Given the description of an element on the screen output the (x, y) to click on. 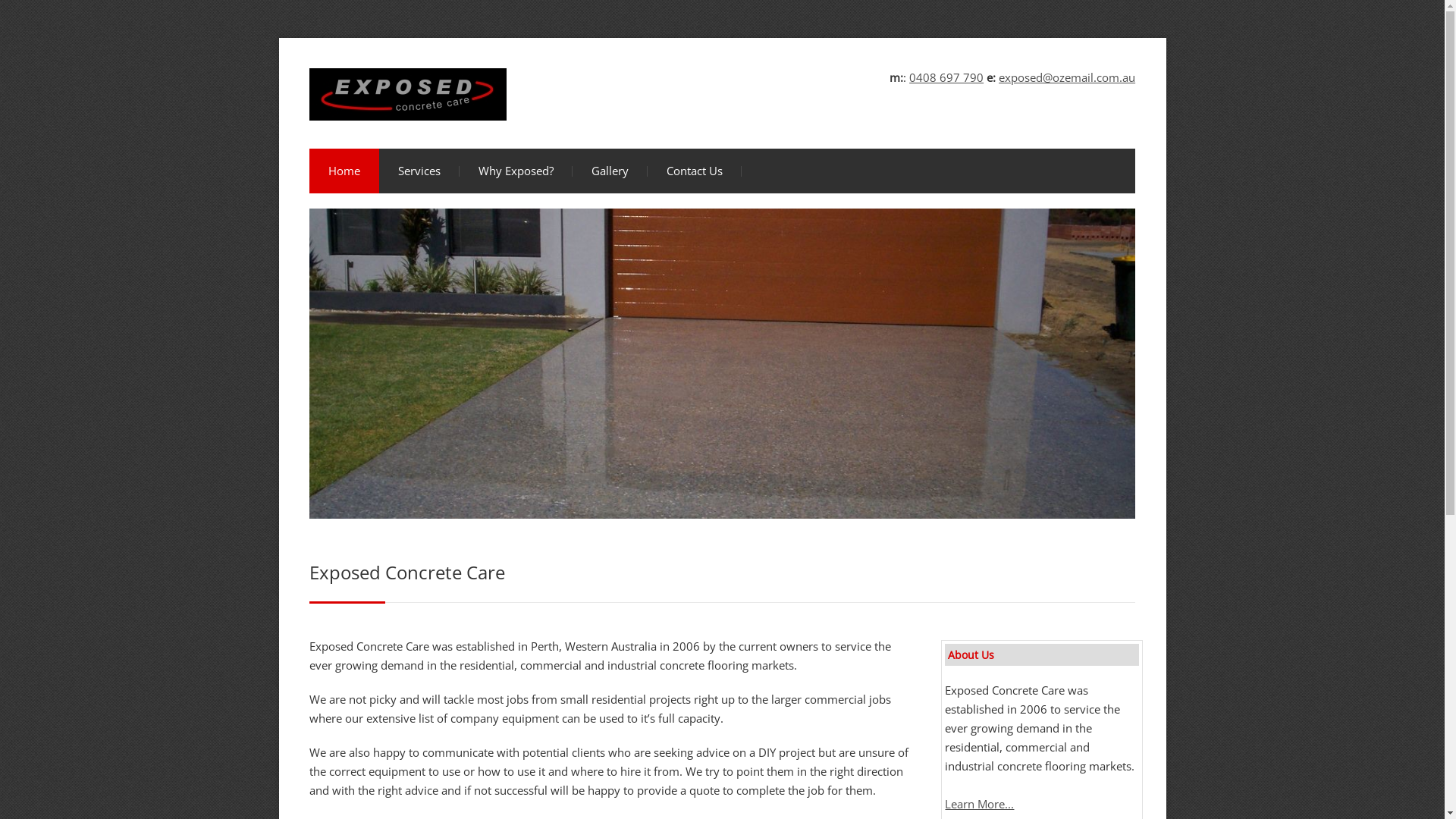
Why Exposed? Element type: text (515, 170)
Services Element type: text (419, 170)
0408 697 790 Element type: text (946, 76)
Home Element type: text (344, 170)
Contact Us Element type: text (694, 170)
exposed@ozemail.com.au Element type: text (1066, 76)
Gallery Element type: text (609, 170)
Learn More... Element type: text (978, 803)
